Given the description of an element on the screen output the (x, y) to click on. 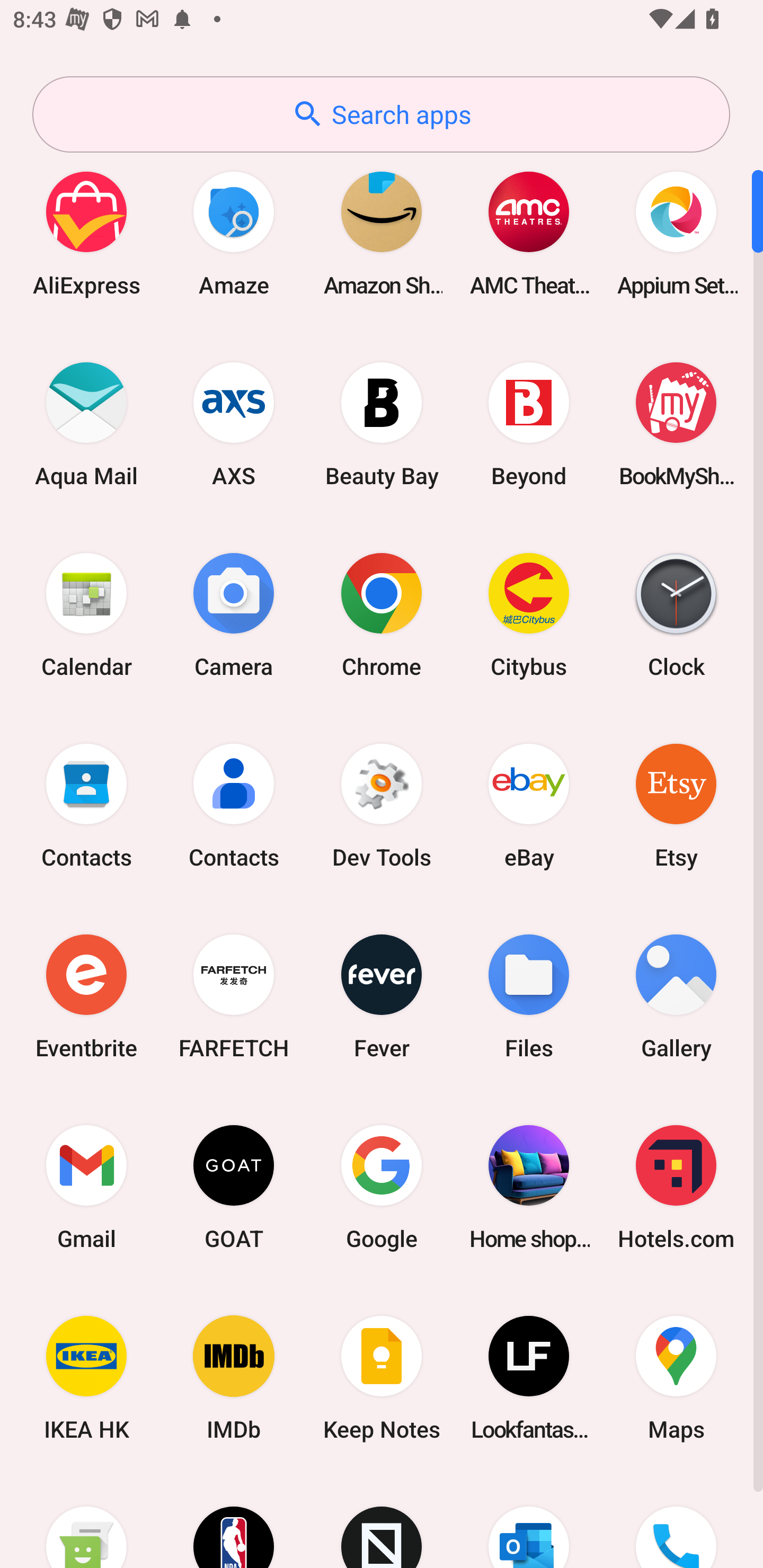
  Search apps (381, 114)
AliExpress (86, 233)
Amaze (233, 233)
Amazon Shopping (381, 233)
AMC Theatres (528, 233)
Appium Settings (676, 233)
Aqua Mail (86, 424)
AXS (233, 424)
Beauty Bay (381, 424)
Beyond (528, 424)
BookMyShow (676, 424)
Calendar (86, 614)
Camera (233, 614)
Chrome (381, 614)
Citybus (528, 614)
Clock (676, 614)
Contacts (86, 805)
Contacts (233, 805)
Dev Tools (381, 805)
eBay (528, 805)
Etsy (676, 805)
Eventbrite (86, 996)
FARFETCH (233, 996)
Fever (381, 996)
Files (528, 996)
Gallery (676, 996)
Gmail (86, 1186)
GOAT (233, 1186)
Google (381, 1186)
Home shopping (528, 1186)
Hotels.com (676, 1186)
IKEA HK (86, 1377)
IMDb (233, 1377)
Keep Notes (381, 1377)
Lookfantastic (528, 1377)
Maps (676, 1377)
